Given the description of an element on the screen output the (x, y) to click on. 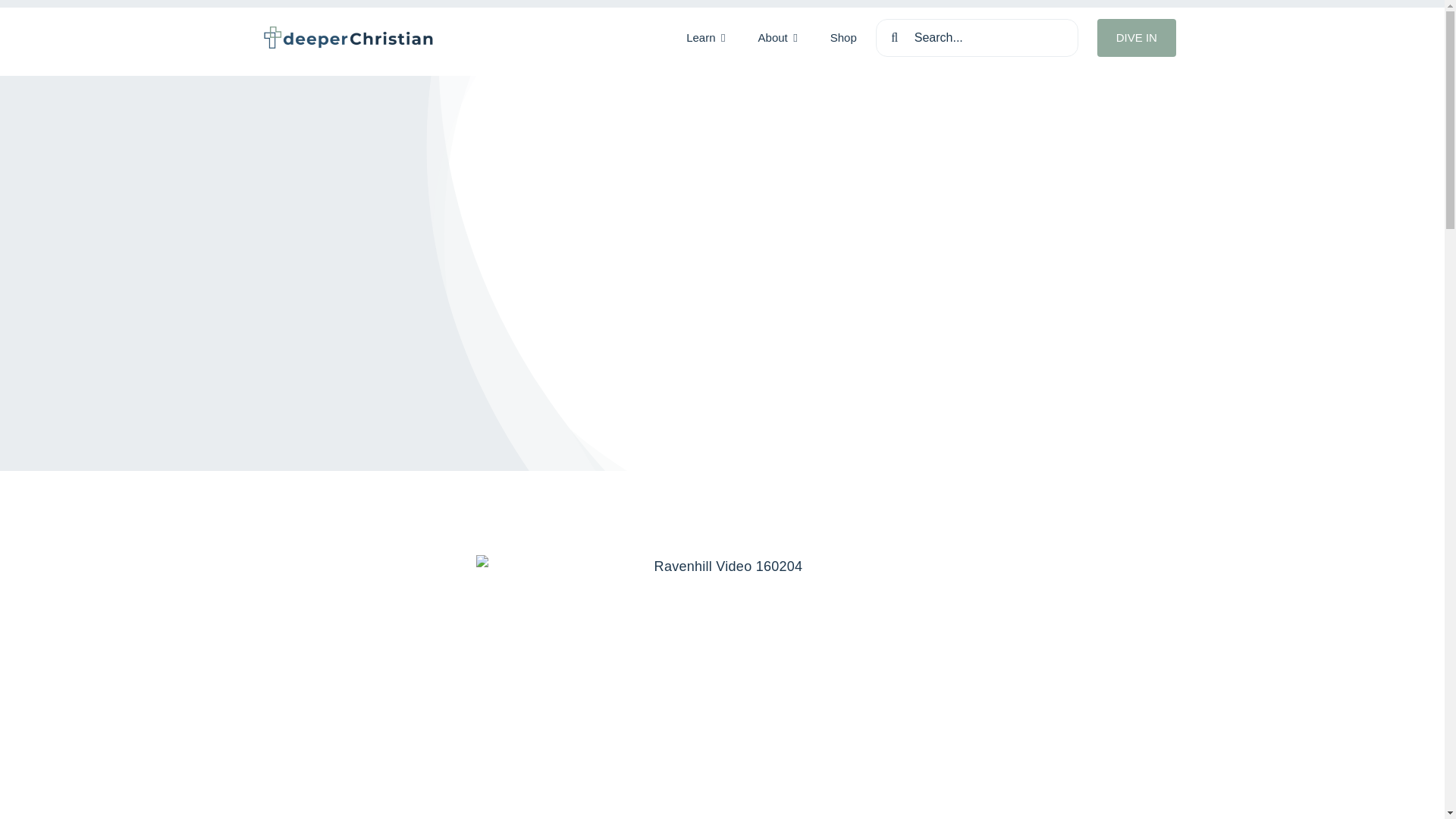
About (777, 37)
Learn (705, 37)
DIVE IN (1136, 37)
